Given the description of an element on the screen output the (x, y) to click on. 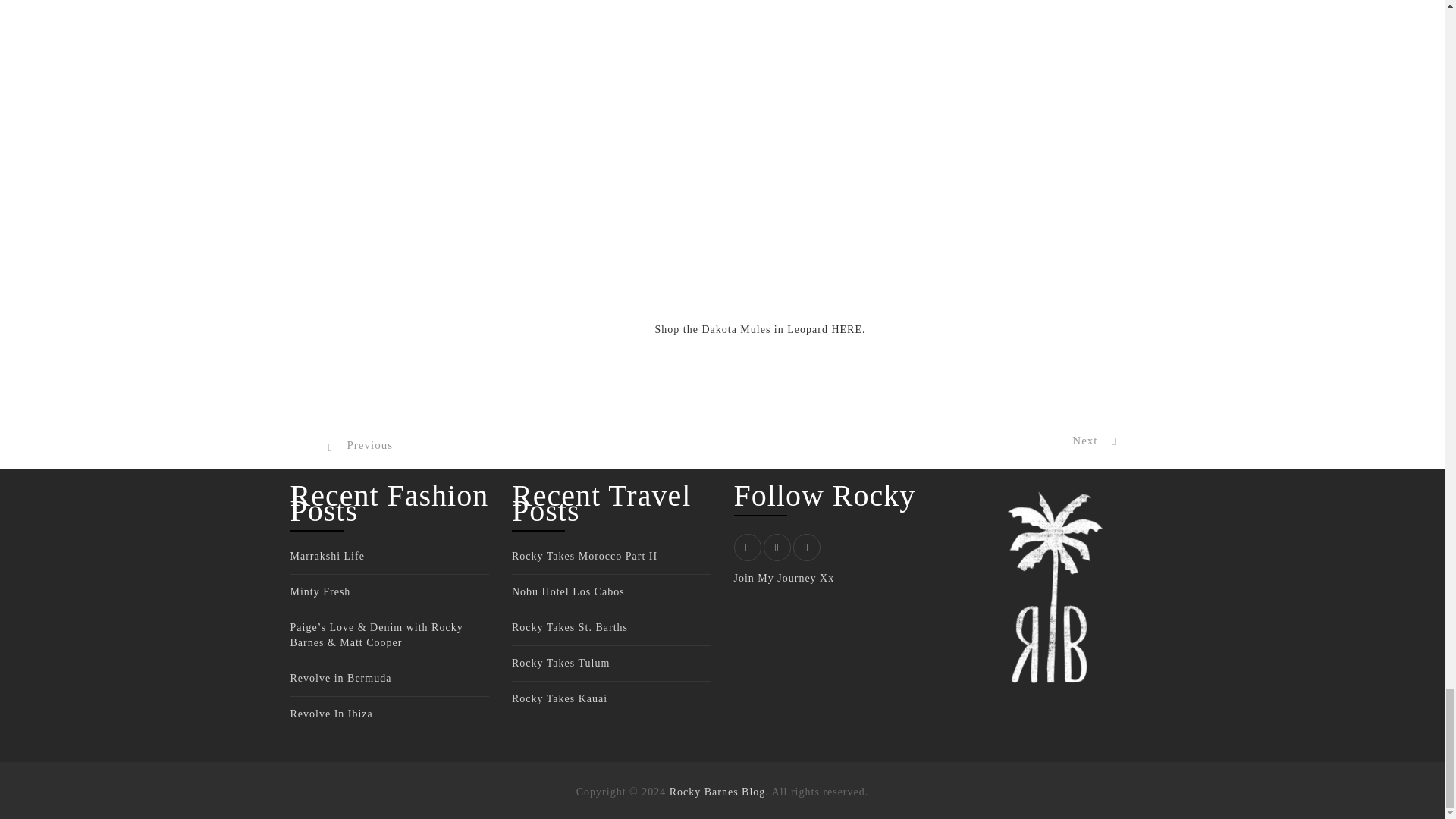
Previous (360, 444)
Next (1093, 440)
HERE. (847, 328)
